Given the description of an element on the screen output the (x, y) to click on. 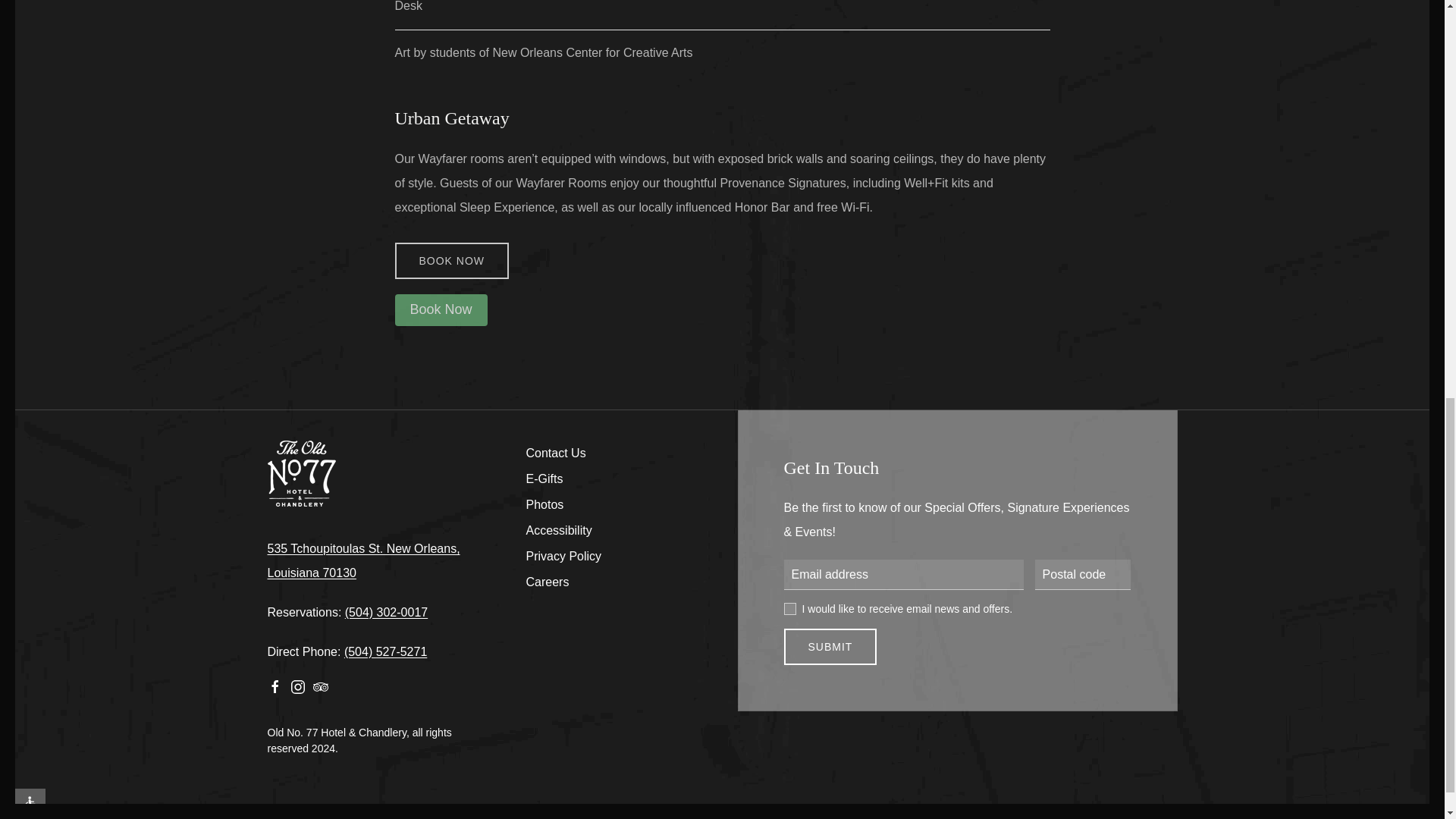
Postal Code (1083, 574)
Email Address (903, 574)
Book Now (440, 309)
1 (790, 608)
BOOK NOW (451, 260)
link directing to a new page for booking your interior room (451, 260)
